Given the description of an element on the screen output the (x, y) to click on. 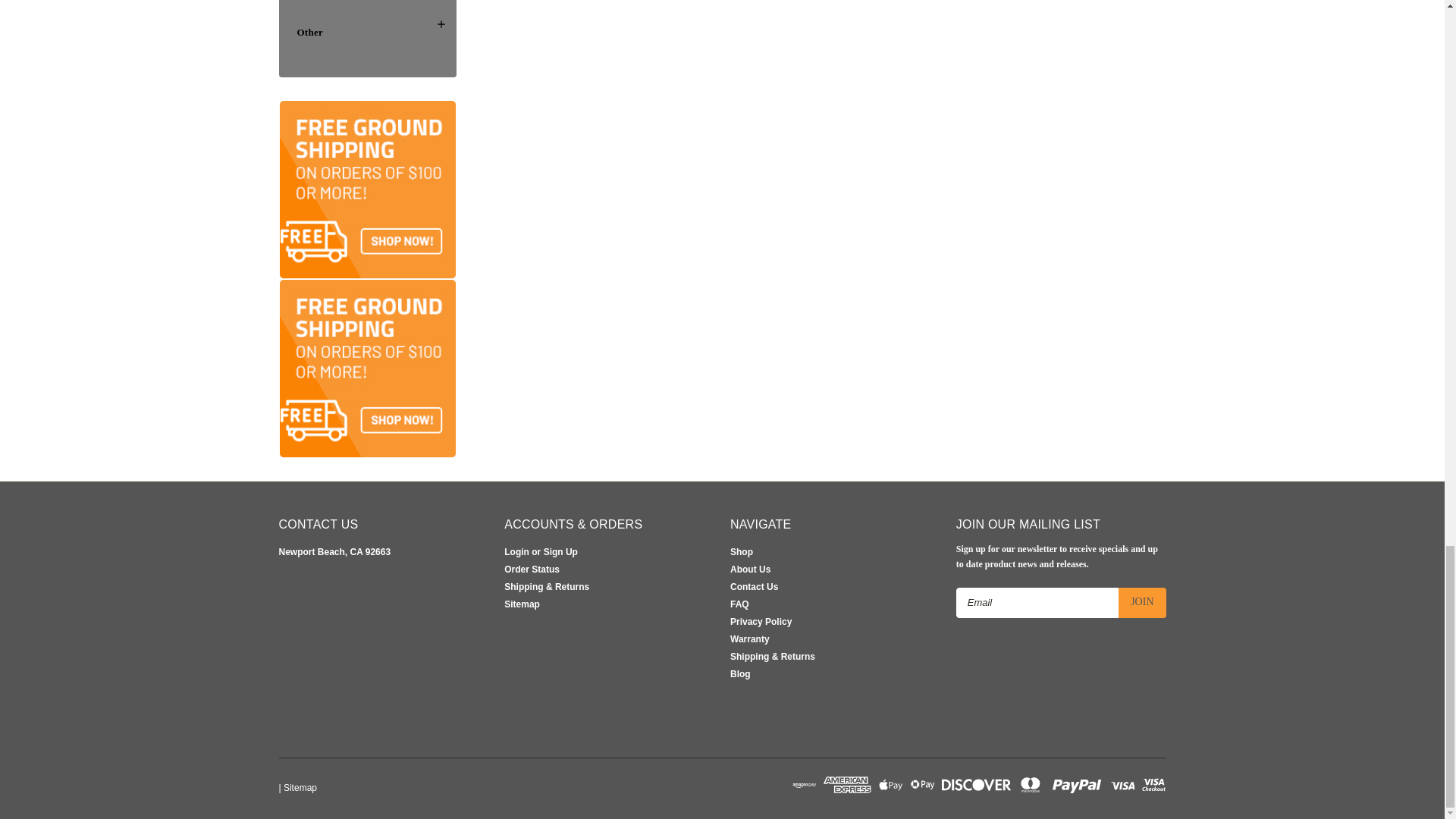
Free Shipping (368, 189)
Join (1142, 603)
Free Shipping (368, 368)
